Given the description of an element on the screen output the (x, y) to click on. 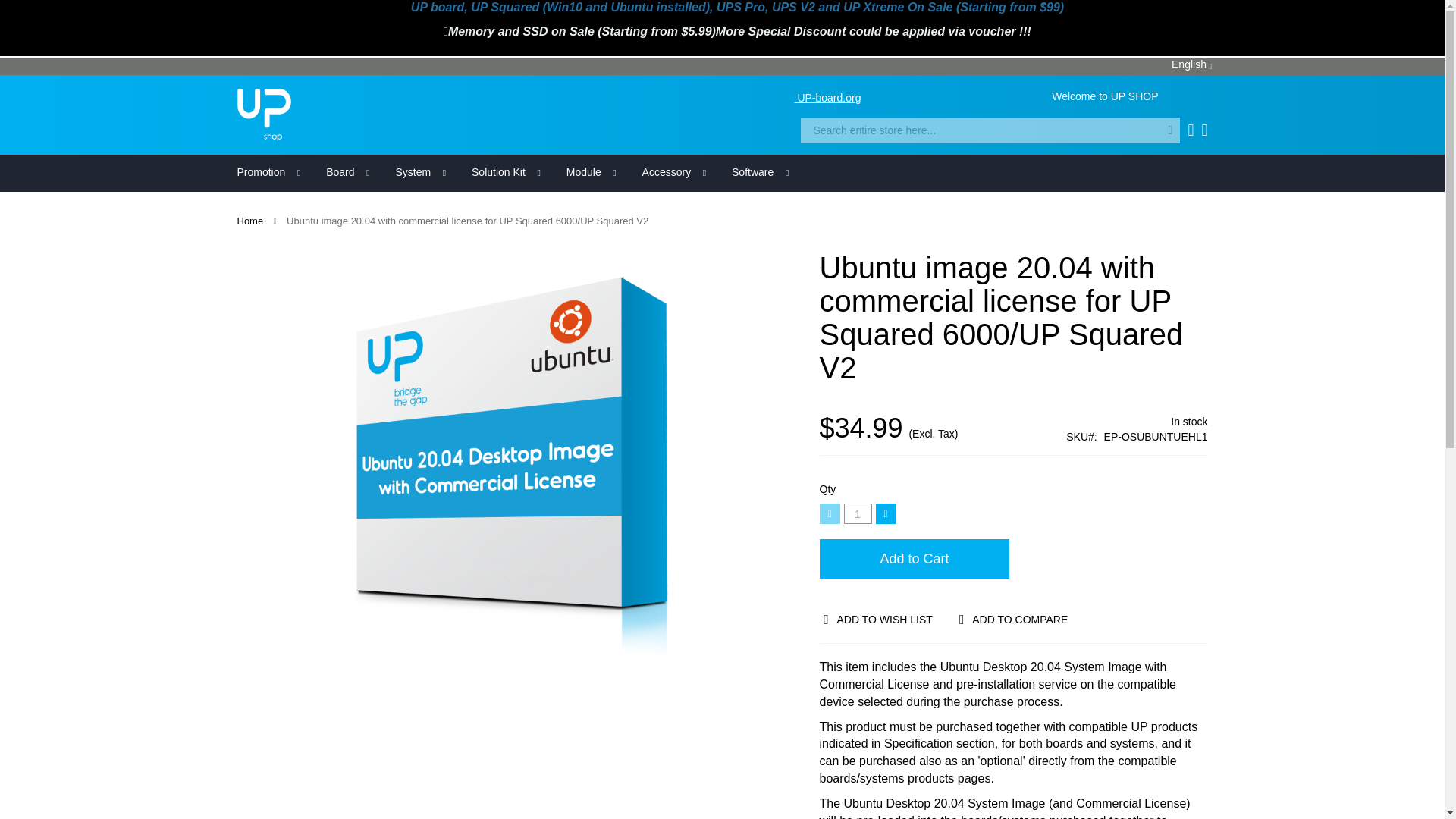
Promotion (260, 172)
Go to Home Page (249, 220)
System (412, 172)
1 (856, 513)
Solution Kit (498, 172)
UP-board.org (819, 96)
Module (583, 172)
Board (340, 172)
